Given the description of an element on the screen output the (x, y) to click on. 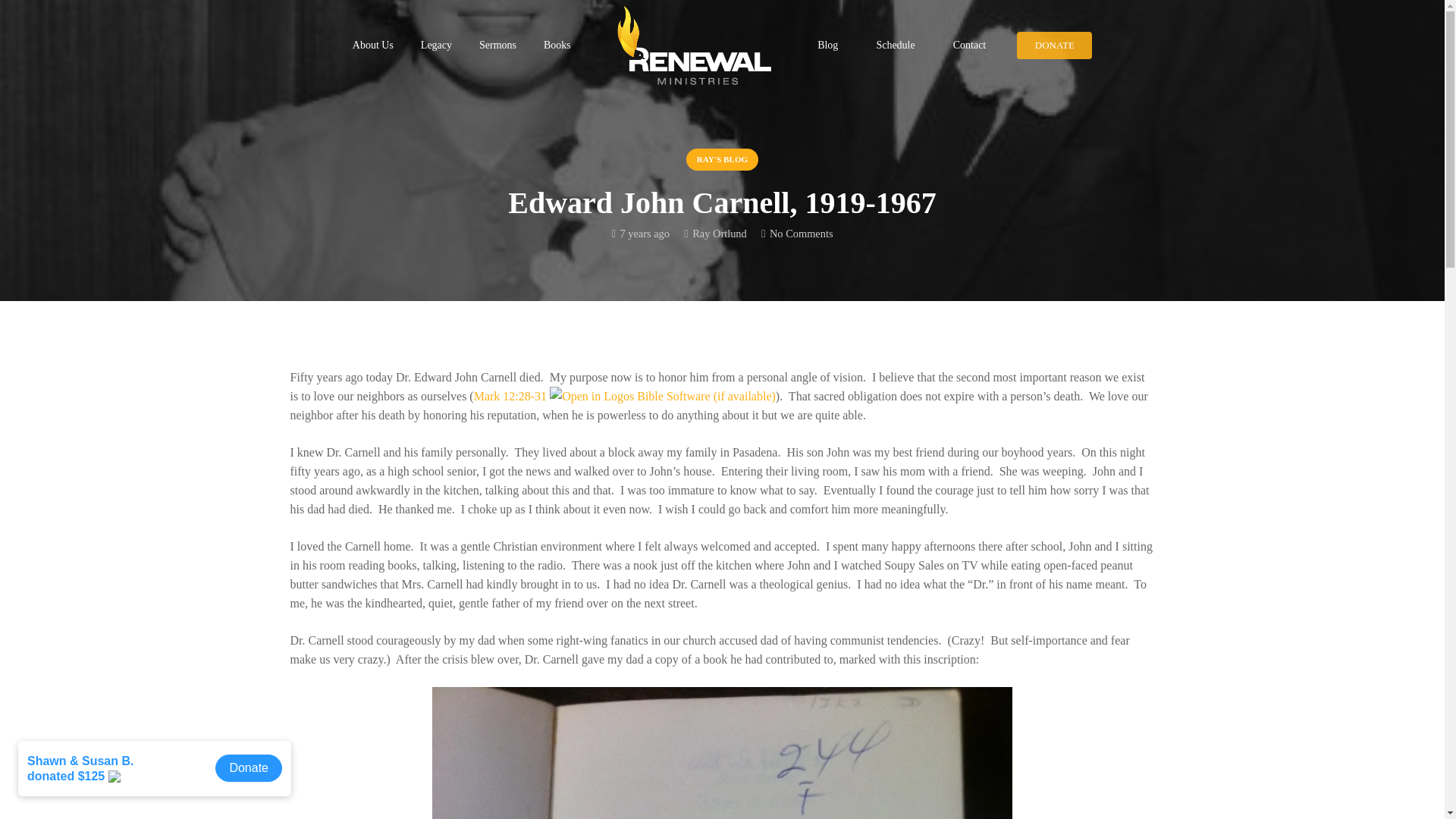
Legacy (435, 44)
Mark 12:28-31 (510, 395)
No Comments (801, 233)
About Us (372, 44)
Blog (827, 44)
Contact (970, 44)
RAY'S BLOG (721, 159)
No Comments (801, 233)
Donation Activity Popup (158, 776)
DONATE (1054, 44)
